Given the description of an element on the screen output the (x, y) to click on. 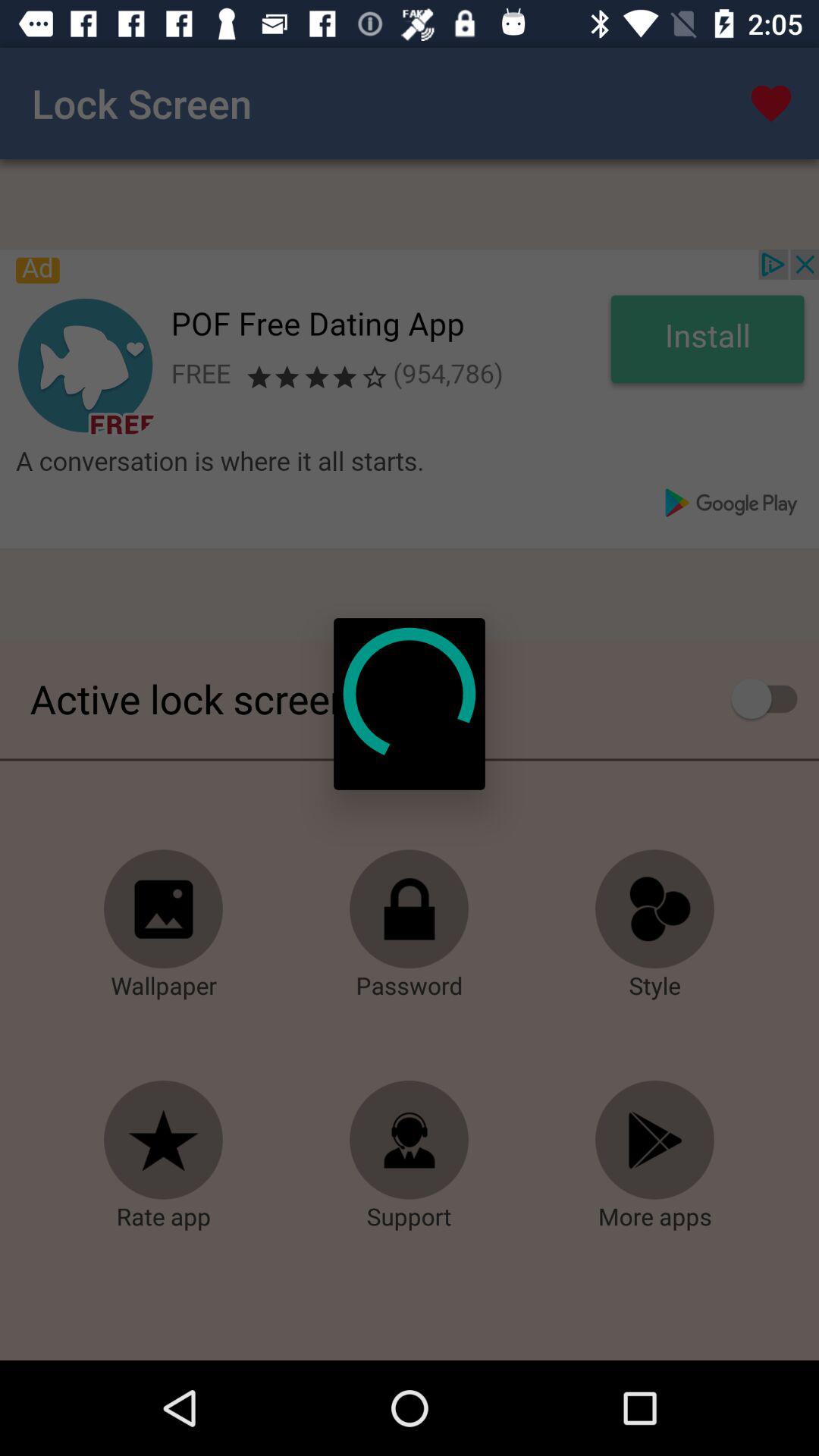
wallpaper option (163, 909)
